Given the description of an element on the screen output the (x, y) to click on. 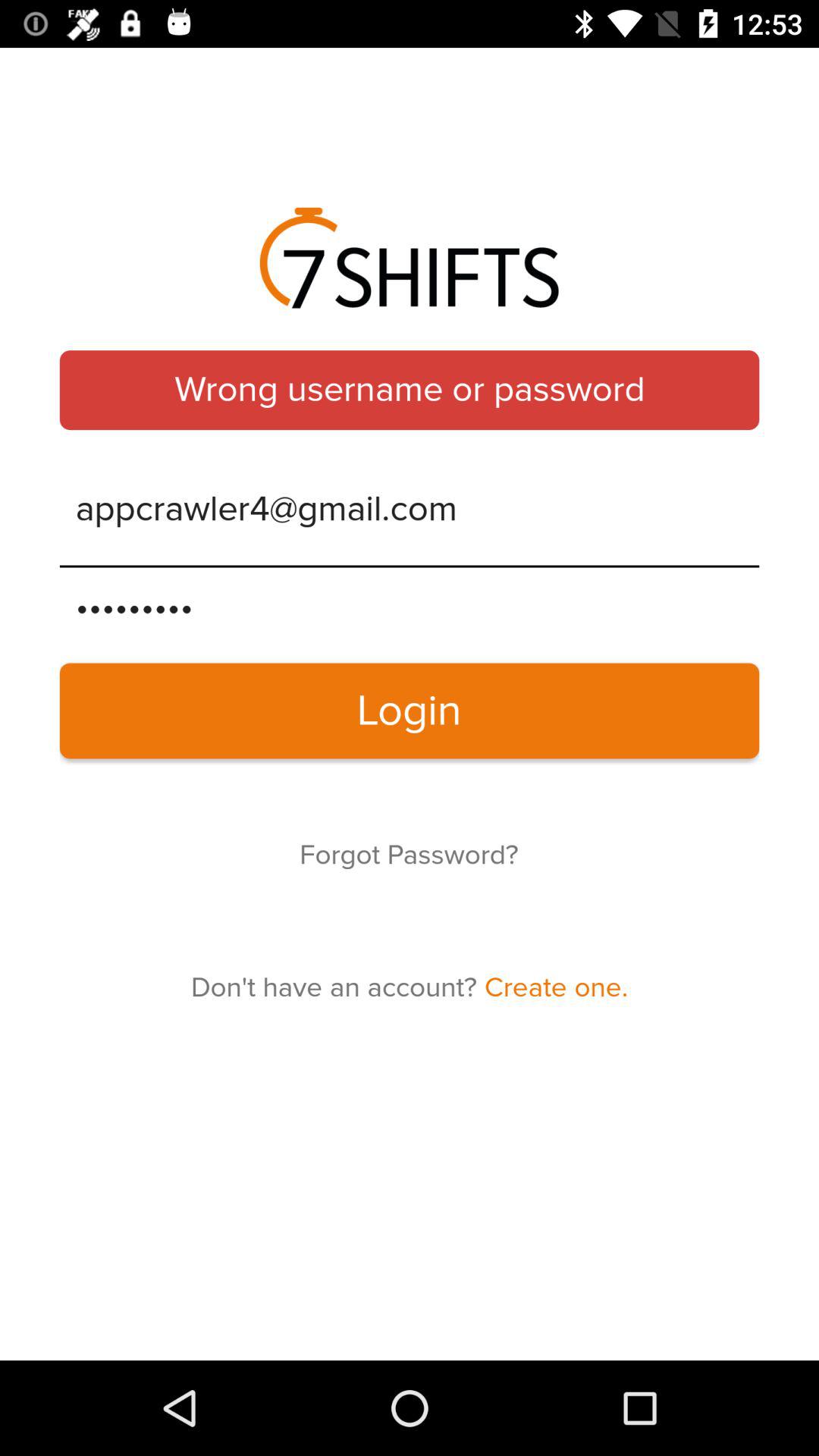
launch item below the login item (408, 854)
